Given the description of an element on the screen output the (x, y) to click on. 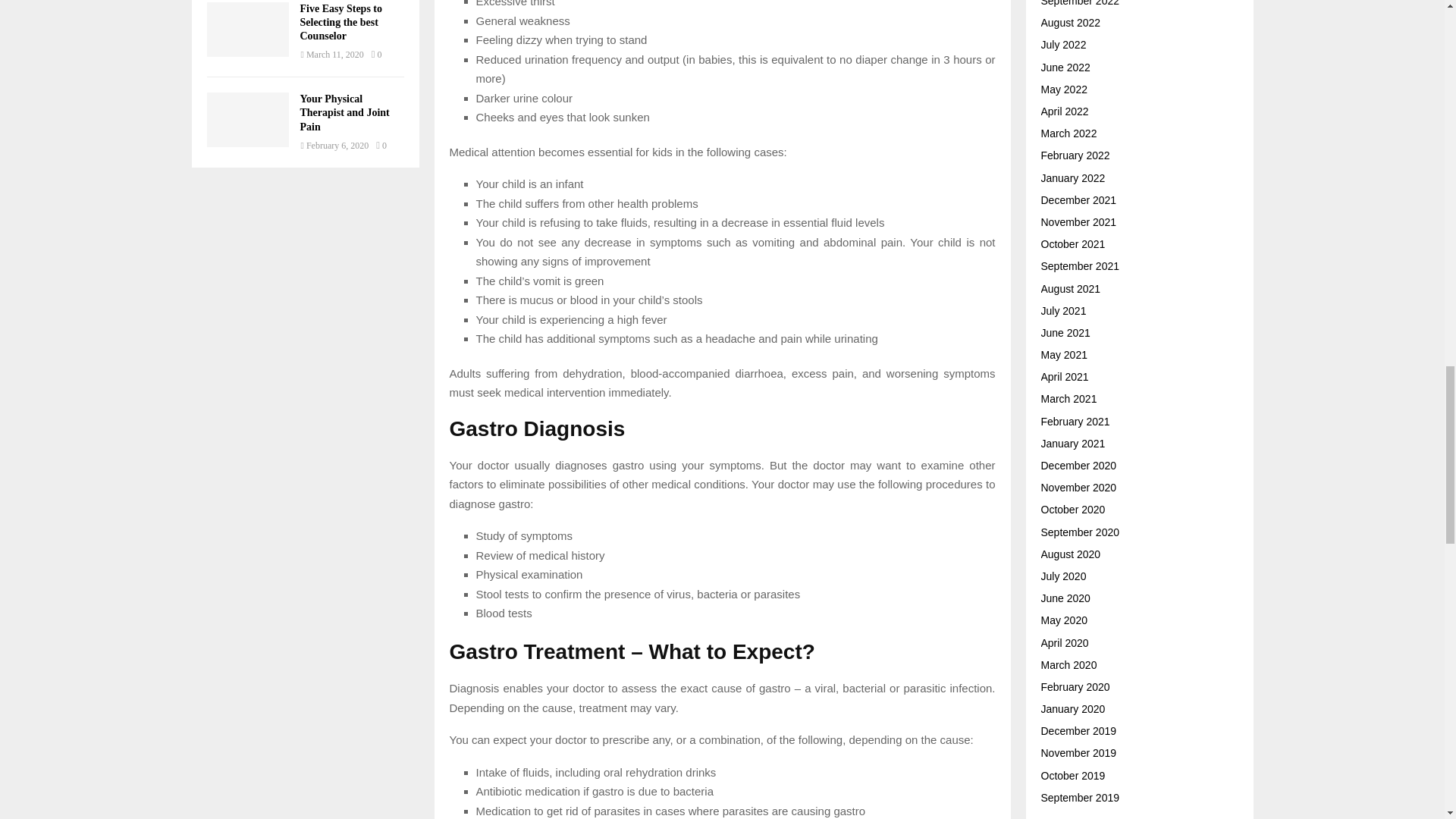
 Five Easy Steps to Selecting the best Counselor  (340, 22)
Five Easy Steps to Selecting the best Counselor (247, 29)
Your Physical Therapist and Joint Pain (247, 119)
